Given the description of an element on the screen output the (x, y) to click on. 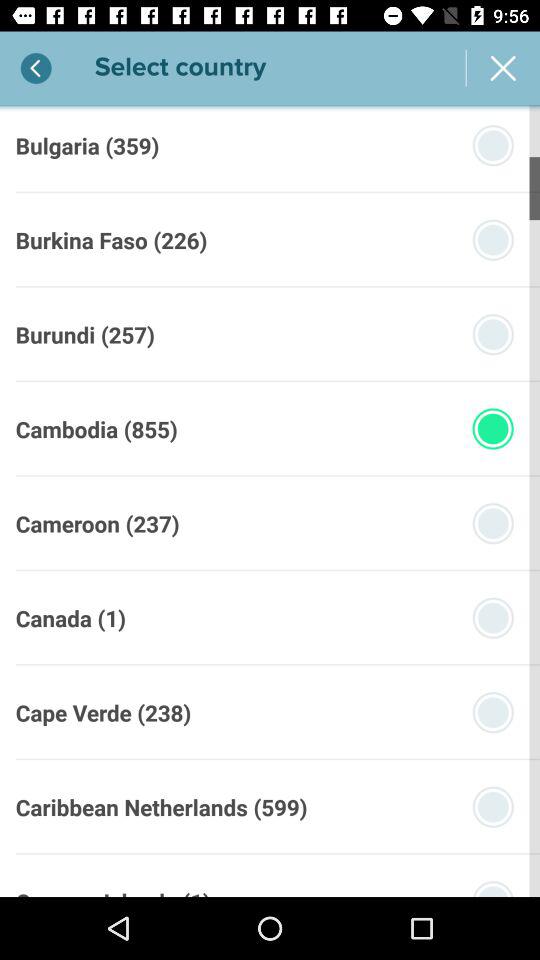
turn on canada (1) icon (70, 618)
